Given the description of an element on the screen output the (x, y) to click on. 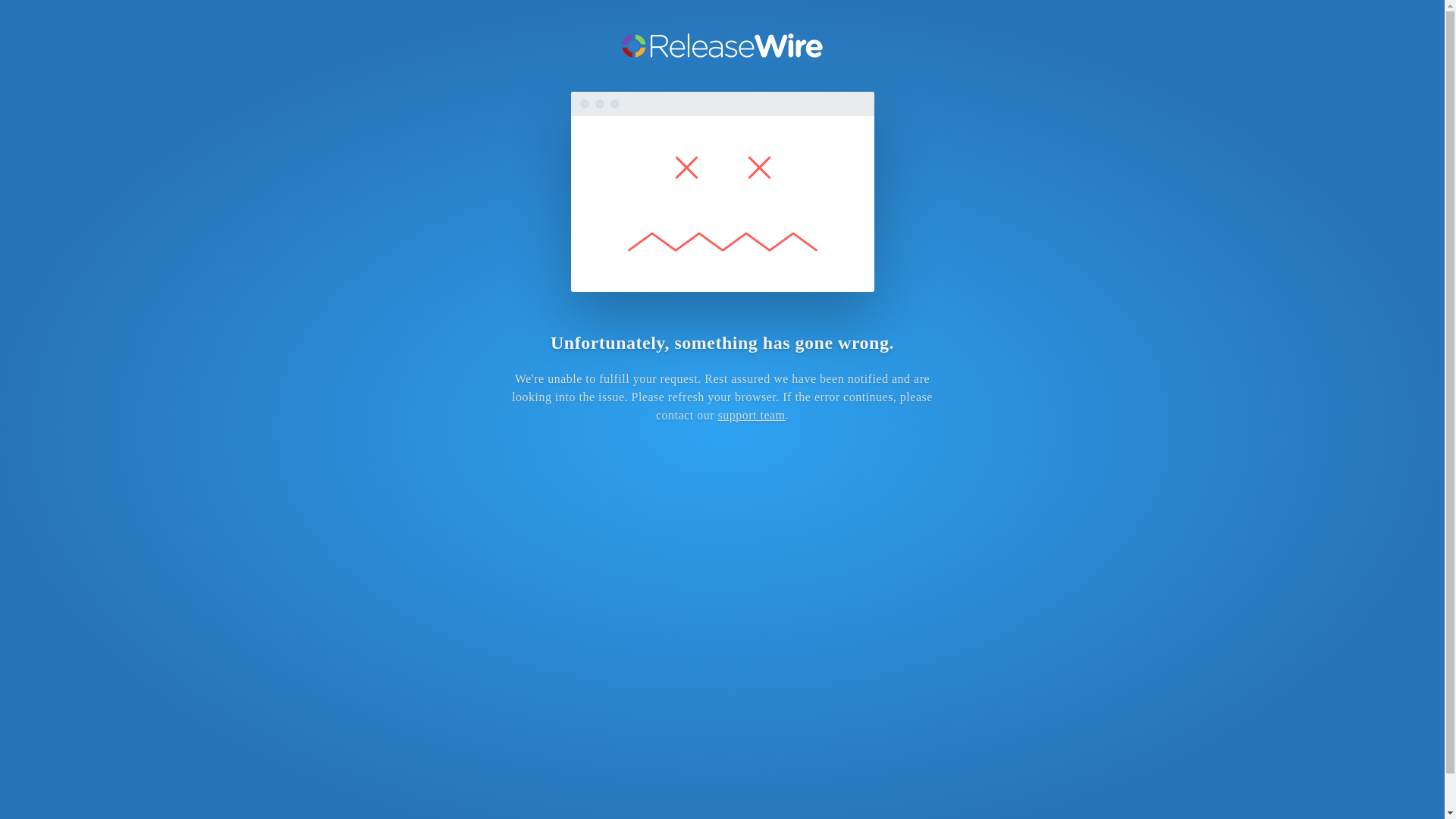
support team (750, 414)
